Given the description of an element on the screen output the (x, y) to click on. 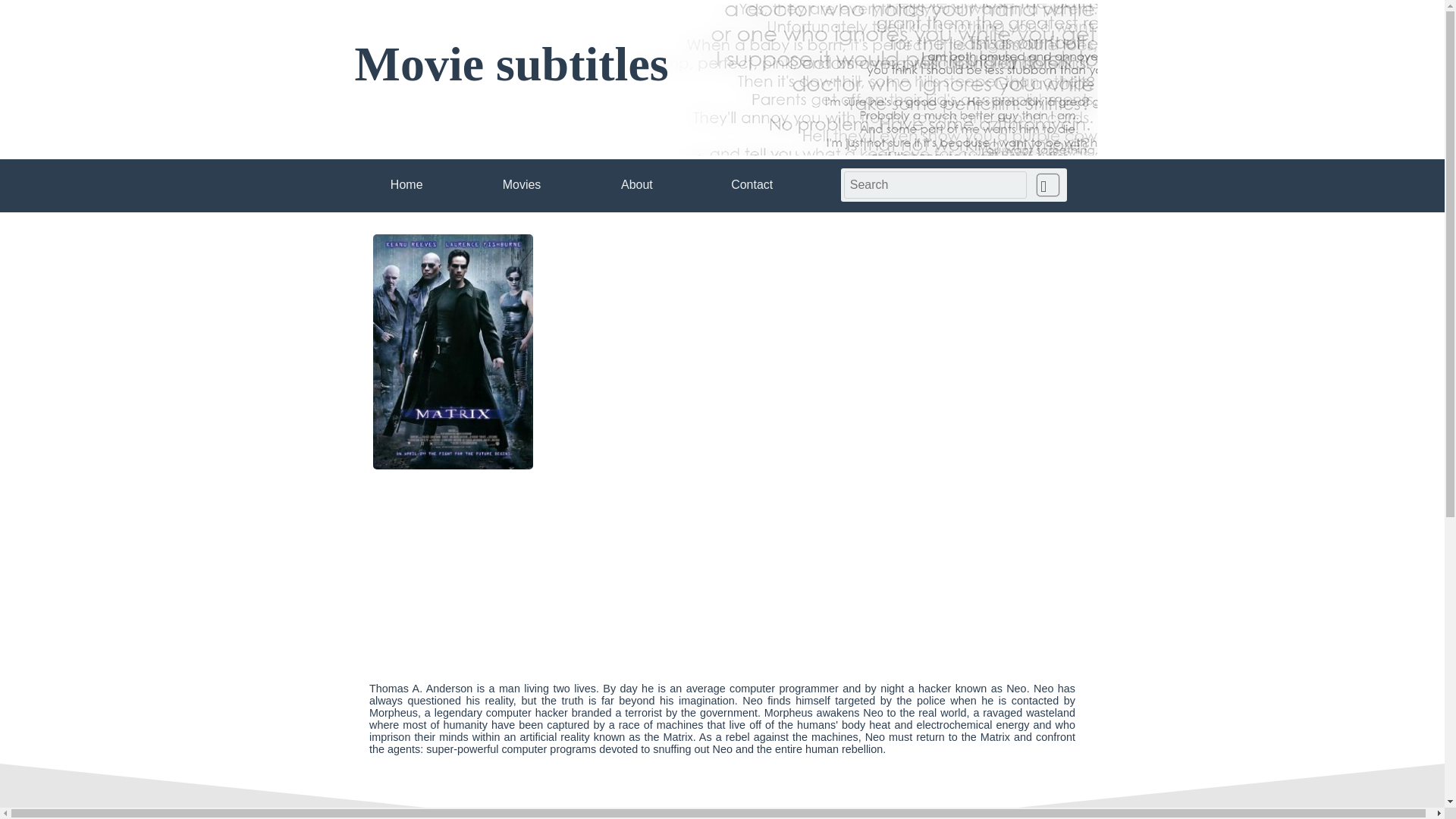
Contact (751, 169)
Movies (521, 169)
